Given the description of an element on the screen output the (x, y) to click on. 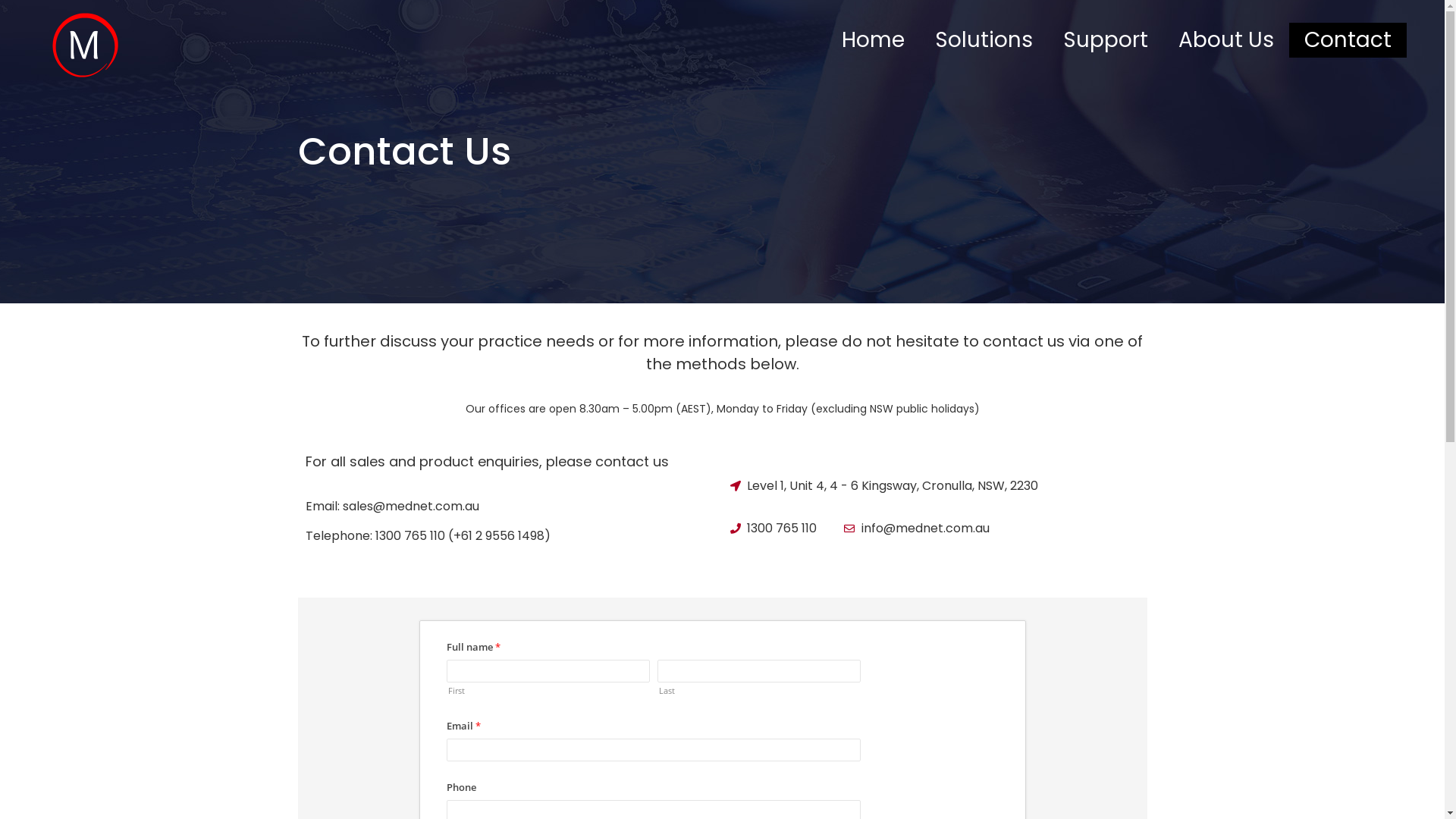
Contact Element type: text (1347, 39)
White Logo Element type: hover (86, 45)
About Us Element type: text (1226, 39)
Solutions Element type: text (983, 39)
Home Element type: text (872, 39)
Support Element type: text (1105, 39)
